Given the description of an element on the screen output the (x, y) to click on. 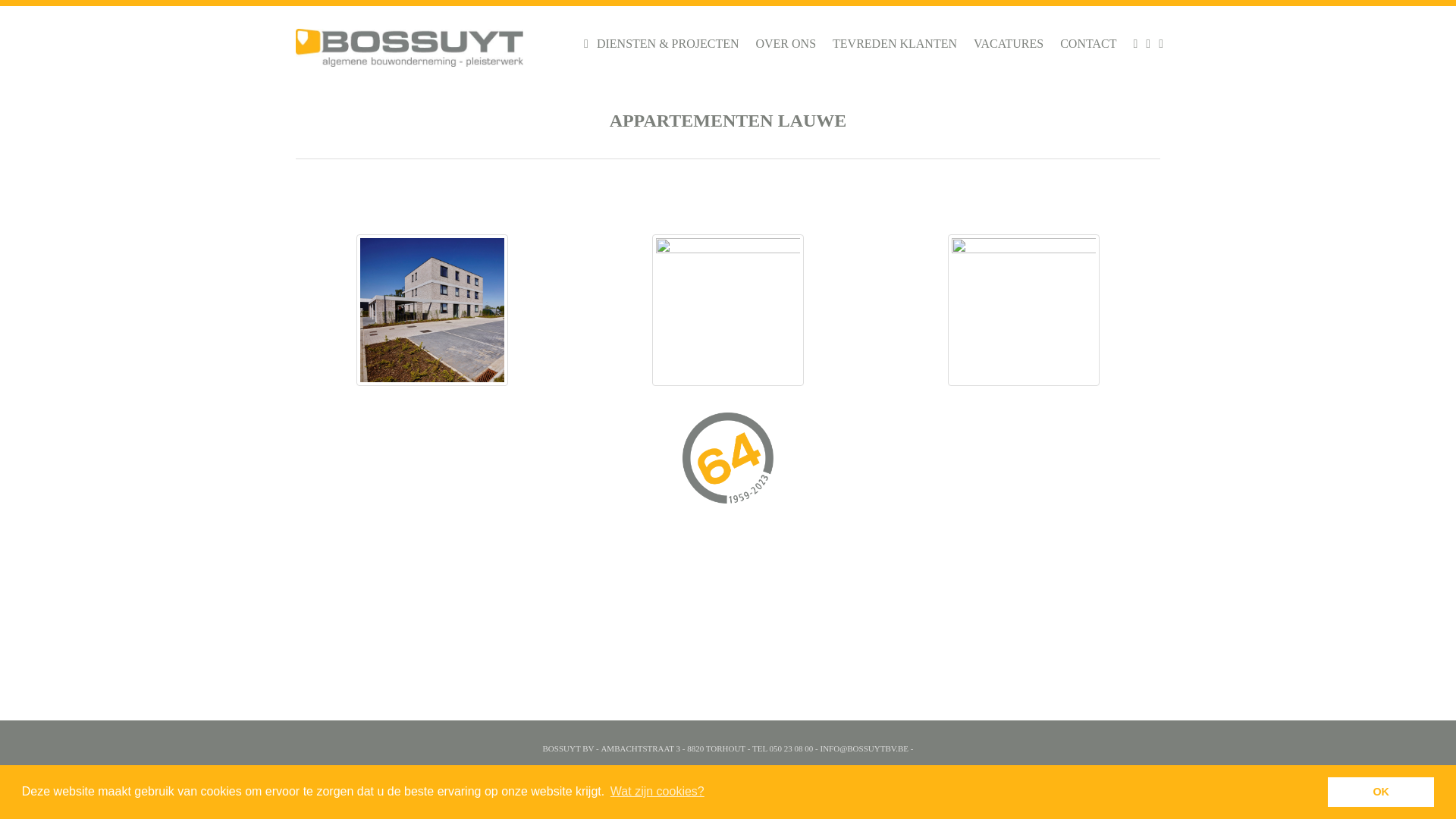
VACATURES Element type: text (1008, 43)
INFO@BOSSUYTBV.BE Element type: text (863, 748)
OVER ONS Element type: text (785, 43)
050 23 08 00 Element type: text (791, 748)
TEVREDEN KLANTEN Element type: text (894, 43)
PRIVACY DISCLAIMER Element type: text (721, 775)
Wat zijn cookies? Element type: text (657, 791)
OK Element type: text (1380, 791)
DIENSTEN & PROJECTEN Element type: text (667, 43)
WEBSITE BY CODEKICK Element type: text (821, 775)
COOKIE DISCLAIMER Element type: text (629, 775)
Bestaat meer dan 55 jaar Element type: hover (727, 461)
CONTACT Element type: text (1087, 43)
